Given the description of an element on the screen output the (x, y) to click on. 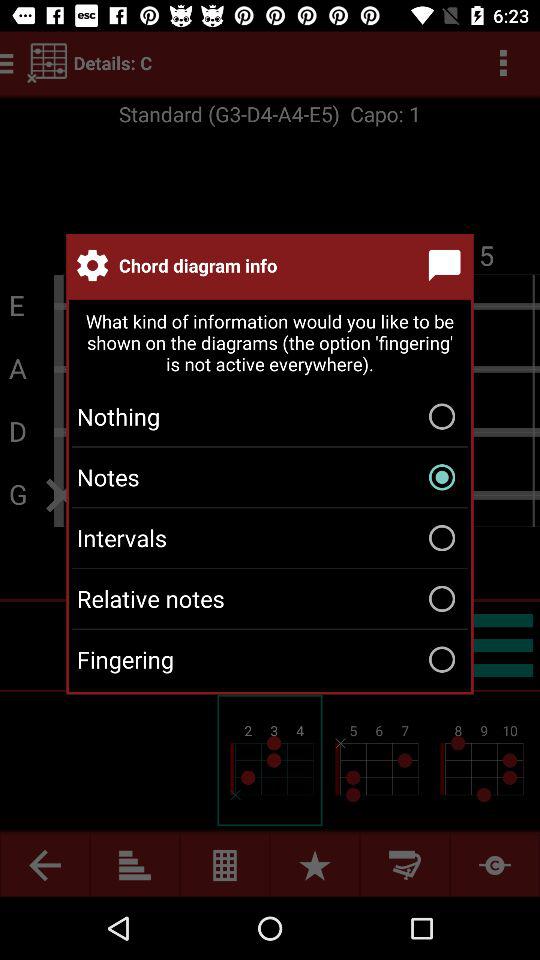
tap item above nothing (269, 344)
